Given the description of an element on the screen output the (x, y) to click on. 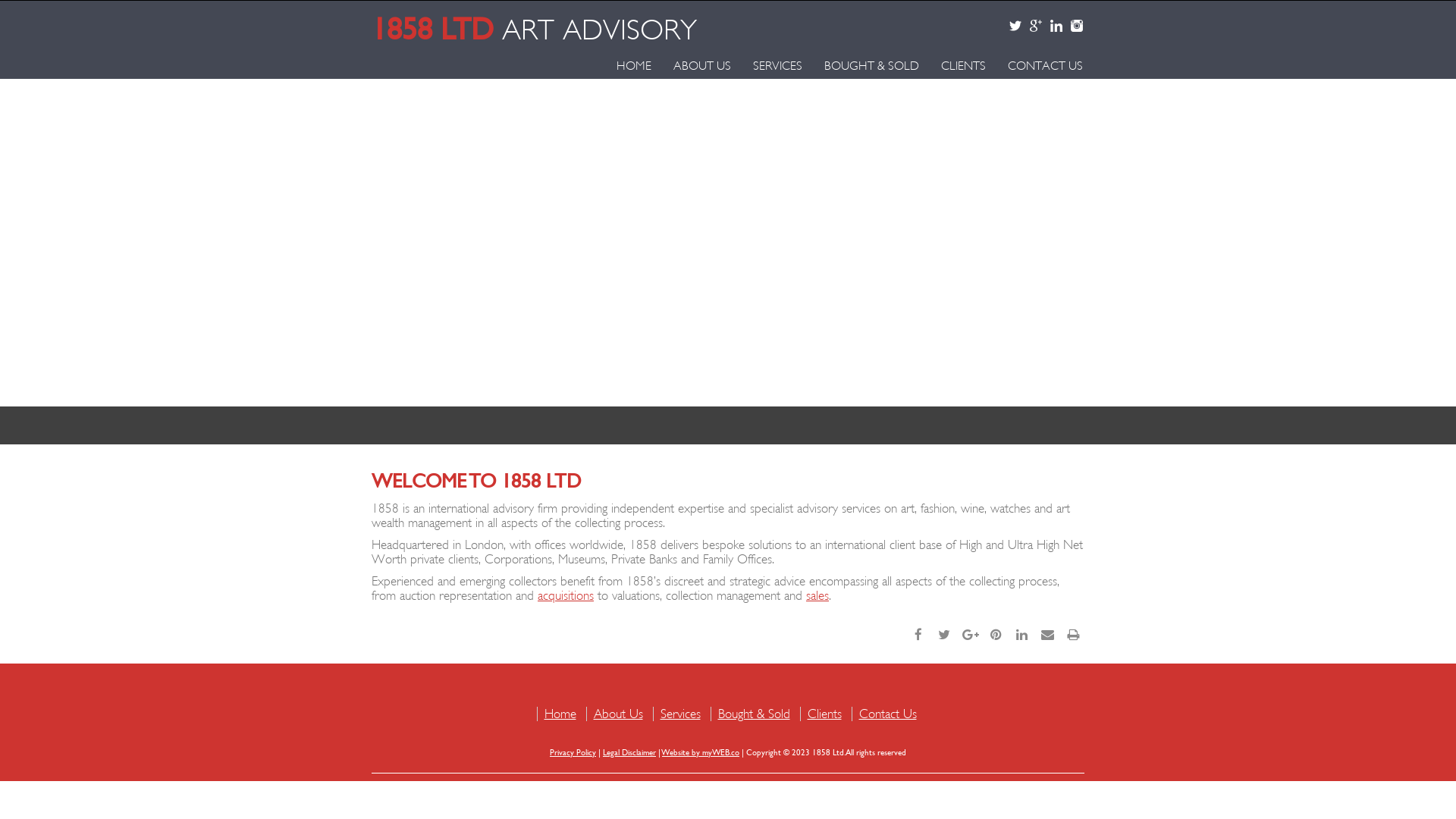
Print Element type: hover (1072, 632)
Legal Disclaimer Element type: text (628, 752)
Share on Facebook Element type: hover (917, 632)
Share it on Email Element type: hover (1046, 632)
Contact Us Element type: text (887, 713)
Clients Element type: text (823, 713)
Visit Us On Twitter Element type: hover (1011, 27)
1858 LTD ART ADVISORY Element type: text (620, 27)
ABOUT US Element type: text (693, 65)
Share on LinkedIn Element type: hover (1021, 632)
BOUGHT & SOLD Element type: text (863, 65)
CLIENTS Element type: text (954, 65)
Share on Google Plus Element type: hover (969, 632)
Website by myWEB.co Element type: text (700, 752)
About Us Element type: text (617, 713)
HOME Element type: text (625, 65)
Privacy Policy Element type: text (572, 752)
sales Element type: text (817, 595)
Visit Us On Instagram Element type: hover (1072, 27)
Share on Pinterest Element type: hover (995, 632)
CONTACT US Element type: text (1036, 65)
Home Element type: text (560, 713)
Bought & Sold Element type: text (753, 713)
Share on Twitter Element type: hover (943, 632)
Services Element type: text (679, 713)
acquisitions Element type: text (565, 595)
Visit Us On Linkedin Element type: hover (1051, 27)
SERVICES Element type: text (768, 65)
Visit Us On Google Plus Element type: hover (1031, 27)
